Given the description of an element on the screen output the (x, y) to click on. 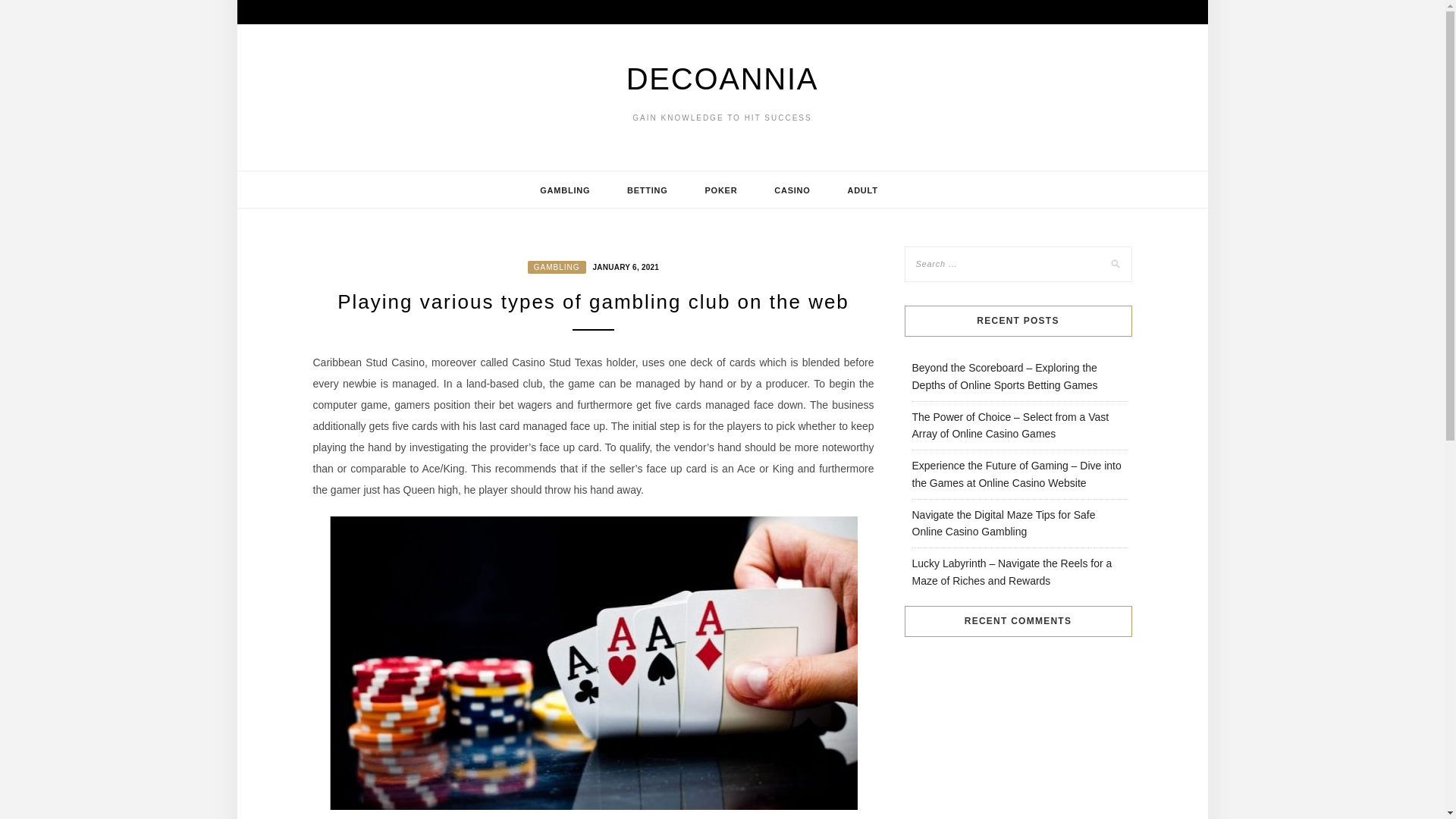
POKER (721, 190)
GAMBLING (556, 267)
BETTING (647, 190)
JANUARY 6, 2021 (623, 265)
DECOANNIA (722, 78)
Search (28, 11)
GAMBLING (564, 190)
ADULT (861, 190)
CASINO (791, 190)
